Given the description of an element on the screen output the (x, y) to click on. 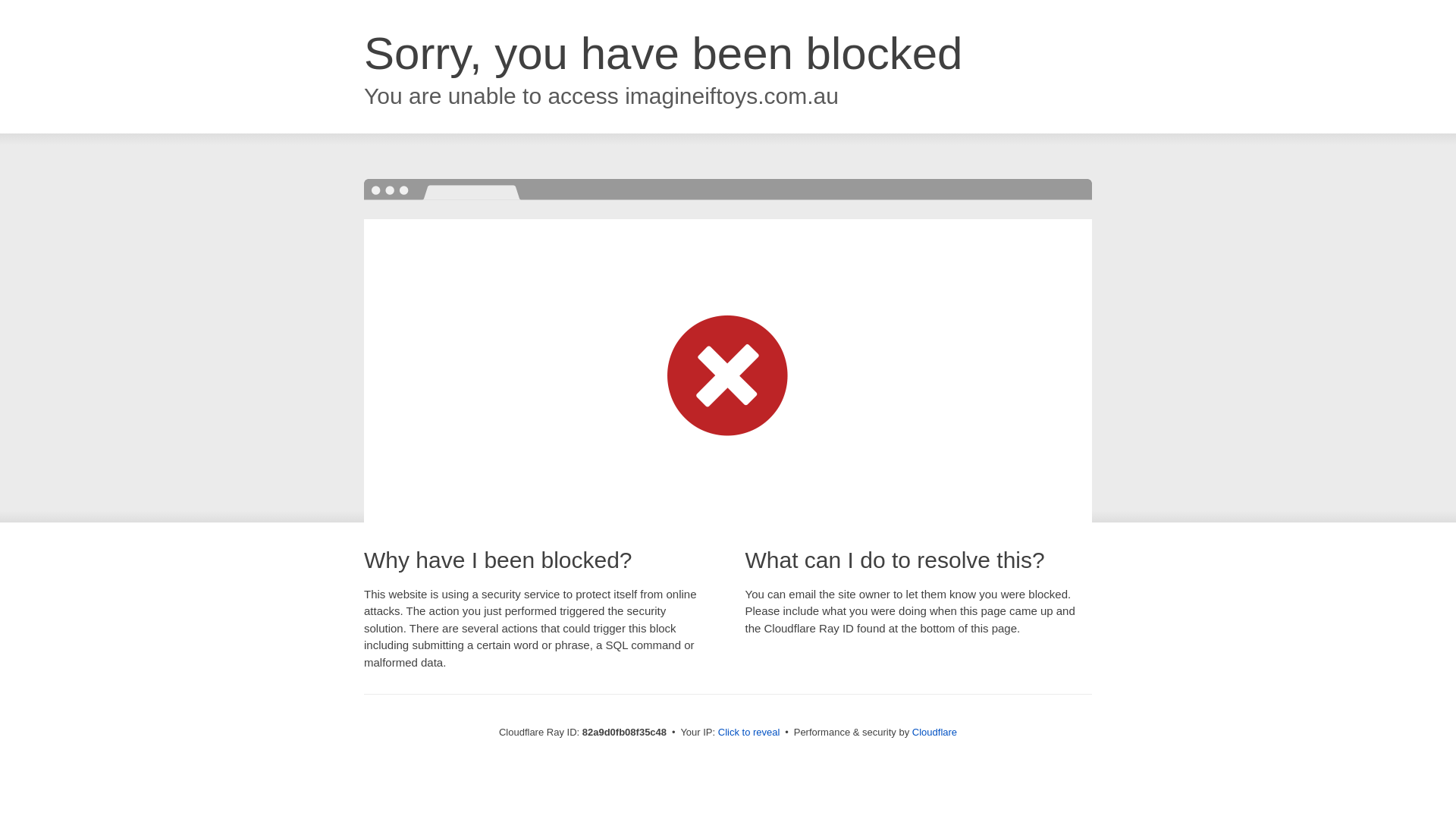
Click to reveal Element type: text (749, 732)
Cloudflare Element type: text (934, 731)
